Given the description of an element on the screen output the (x, y) to click on. 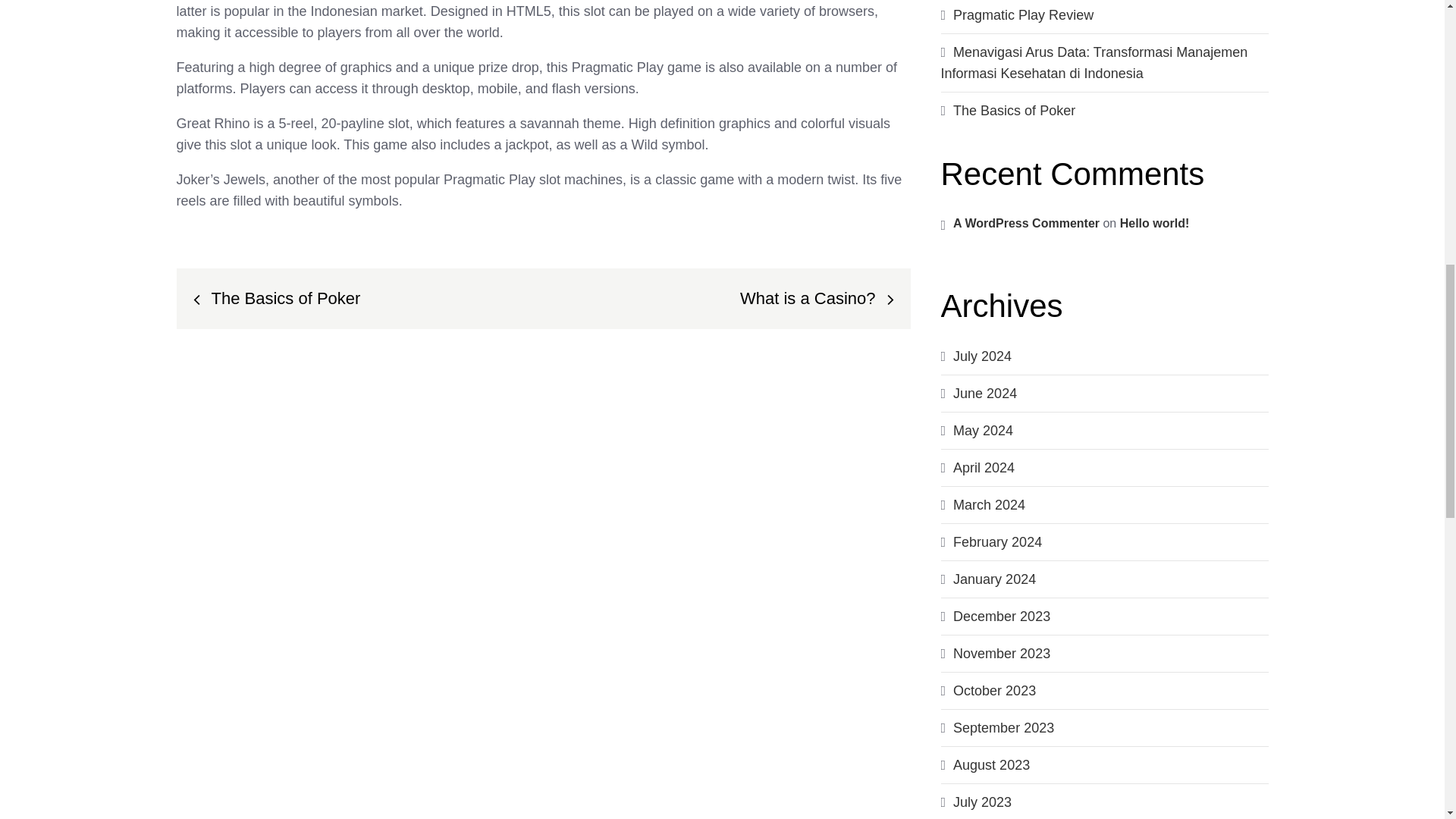
March 2024 (989, 504)
July 2023 (982, 801)
Pragmatic Play Review (1023, 14)
The Basics of Poker (1014, 110)
April 2024 (983, 467)
A WordPress Commenter (1026, 223)
July 2024 (982, 355)
December 2023 (1001, 616)
February 2024 (997, 541)
August 2023 (991, 765)
May 2024 (983, 430)
September 2023 (1003, 727)
June 2024 (984, 393)
October 2023 (994, 690)
